Given the description of an element on the screen output the (x, y) to click on. 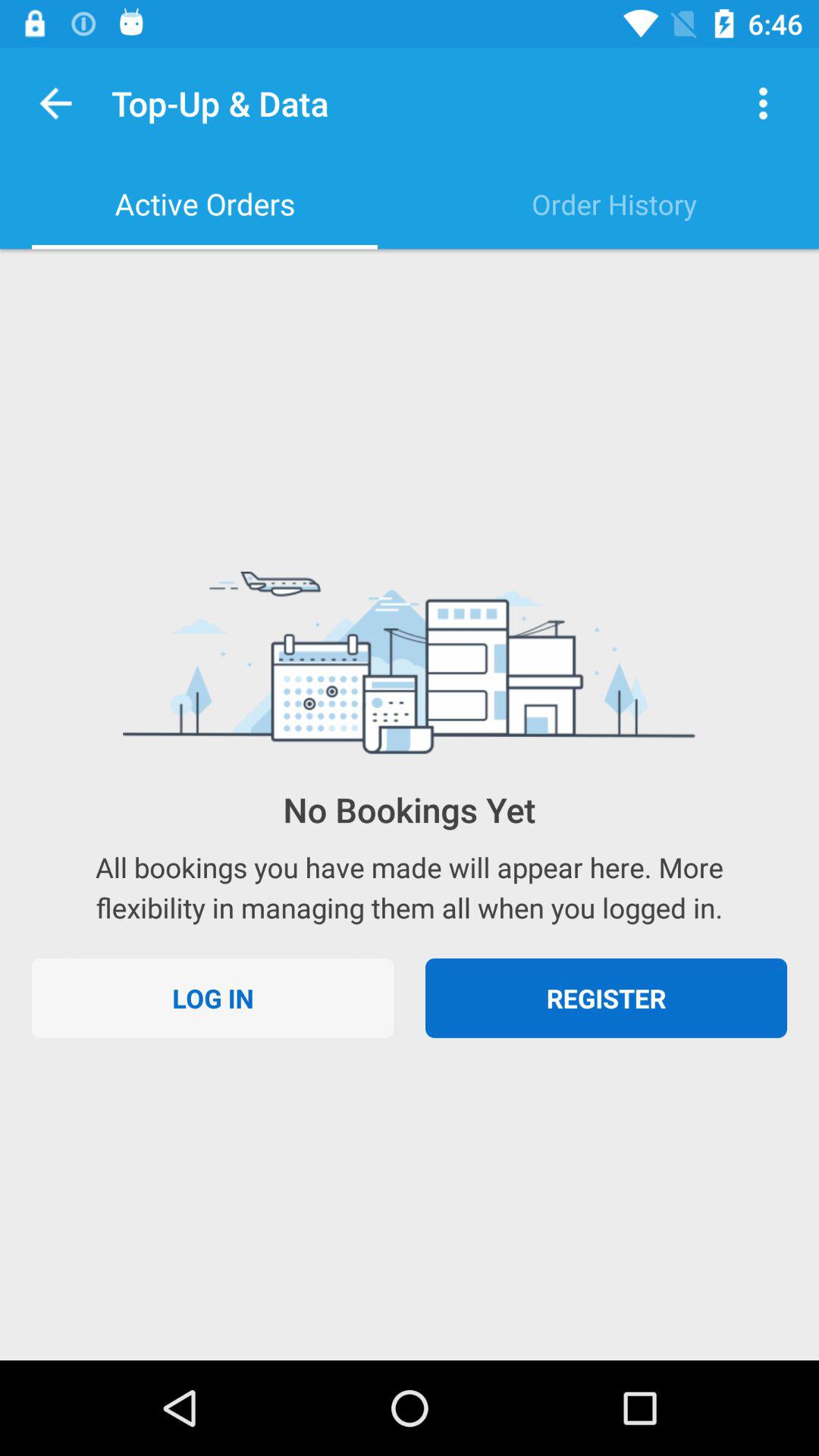
go back (55, 103)
